Given the description of an element on the screen output the (x, y) to click on. 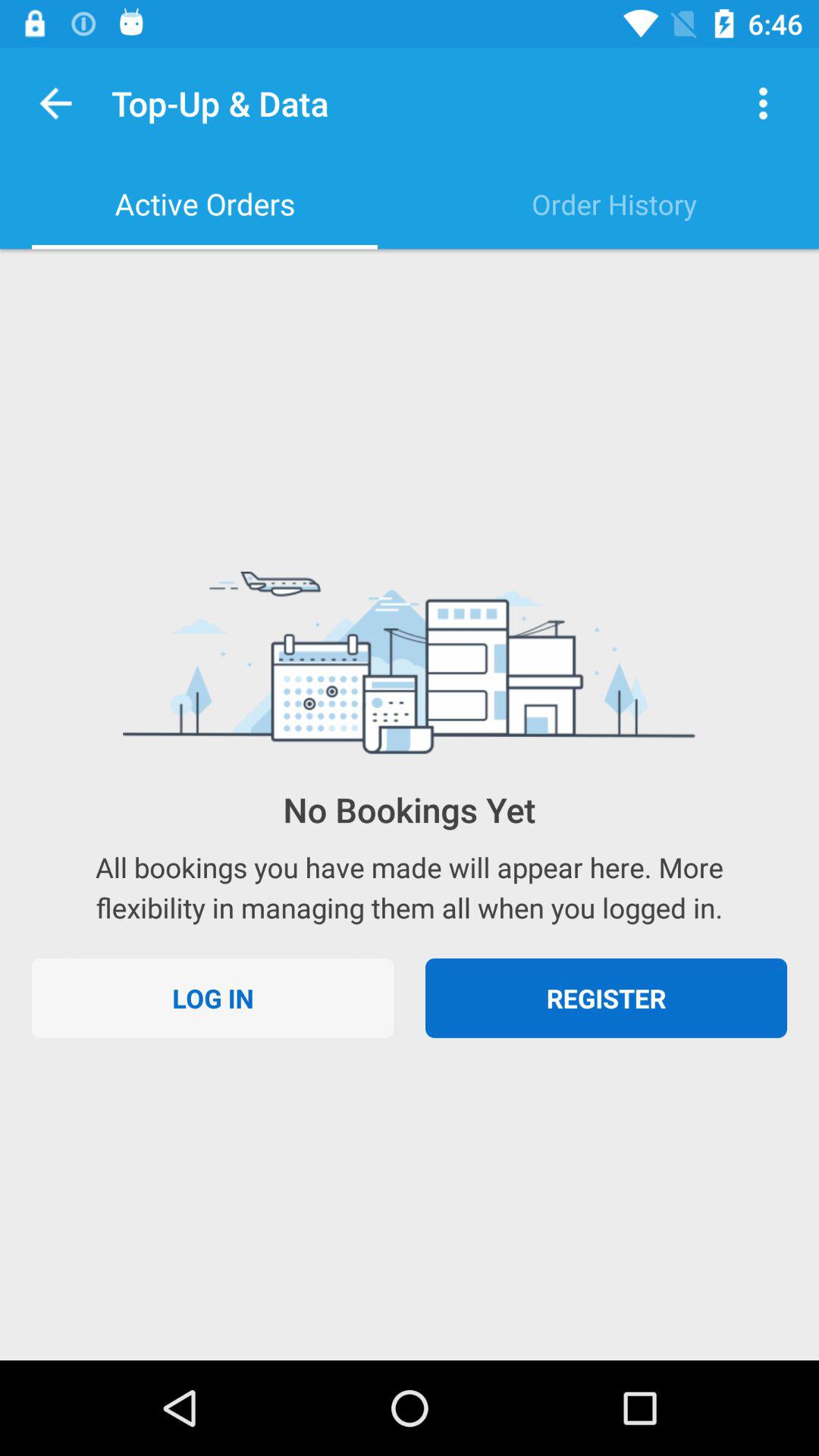
go back (55, 103)
